Given the description of an element on the screen output the (x, y) to click on. 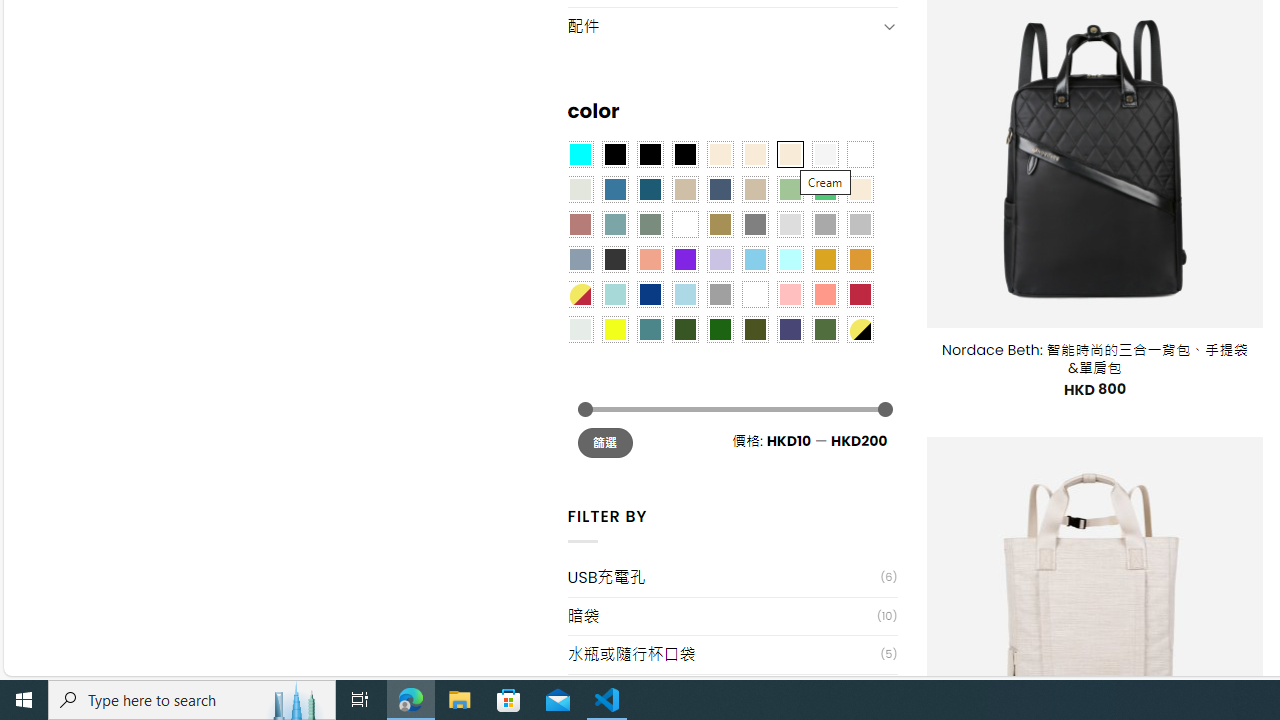
Dull Nickle (579, 329)
